Given the description of an element on the screen output the (x, y) to click on. 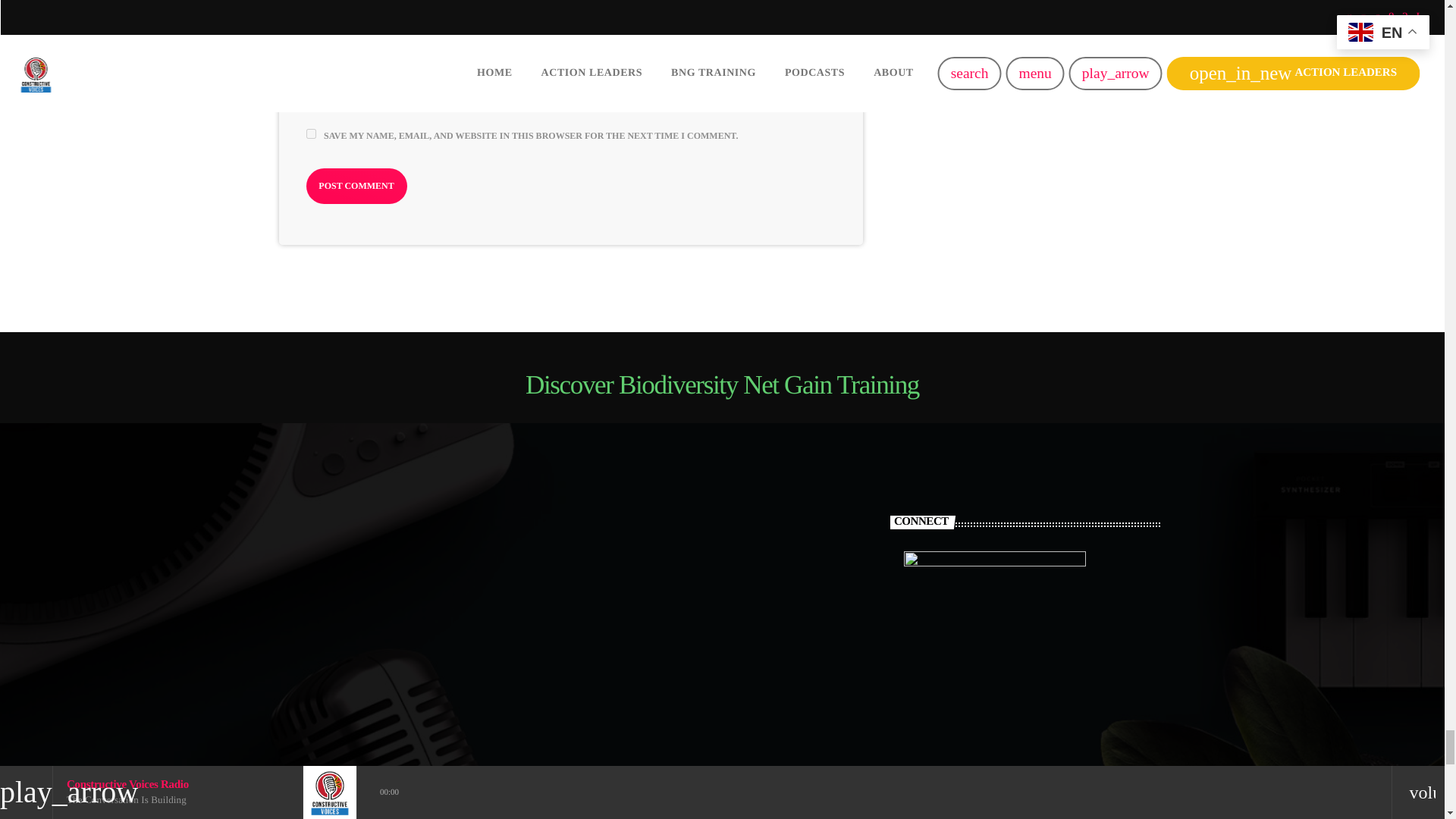
Post Comment (356, 185)
yes (310, 133)
